Given the description of an element on the screen output the (x, y) to click on. 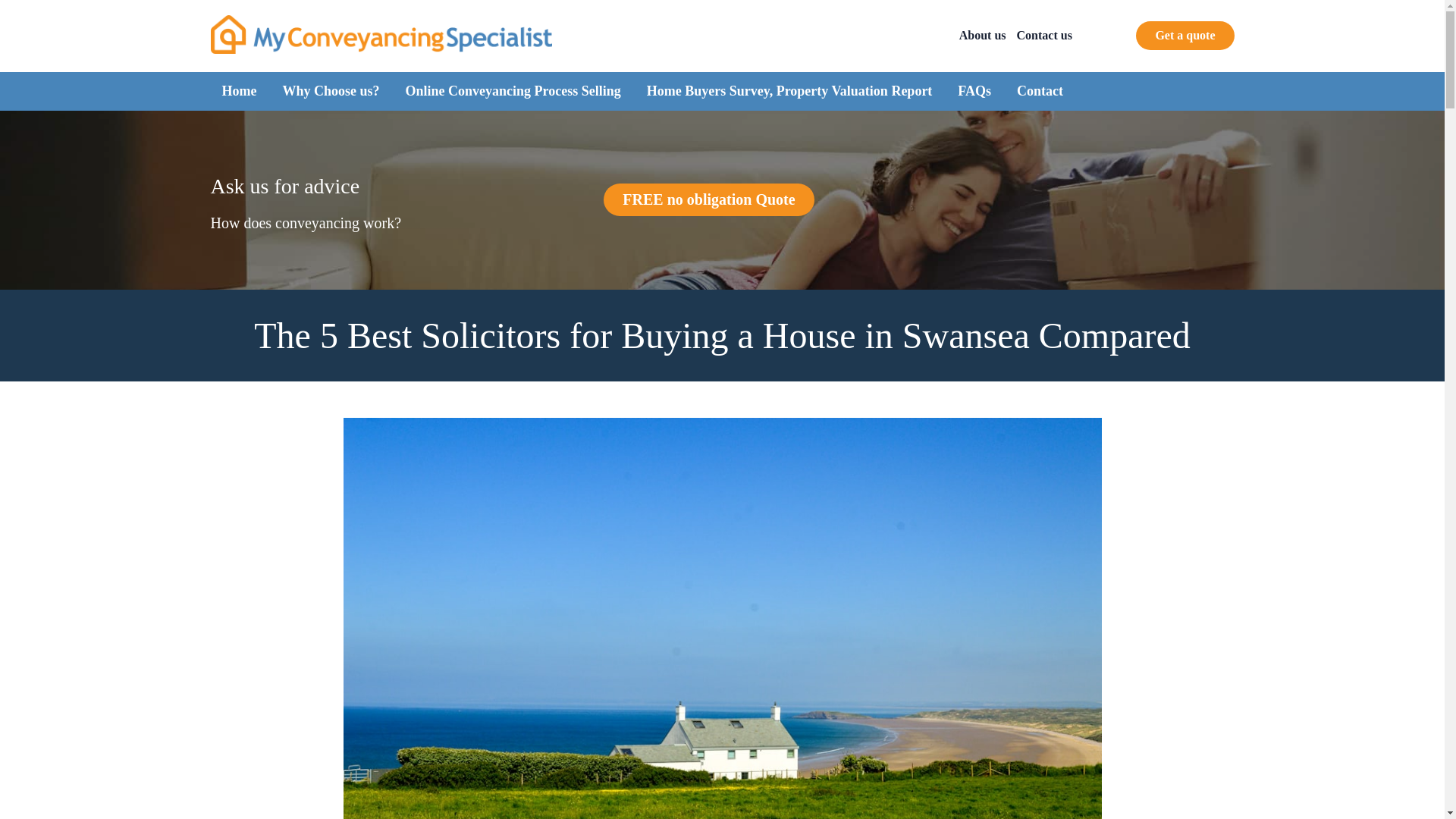
Home (238, 90)
Contact us (1043, 34)
FREE no obligation Quote (708, 199)
Contact (1039, 90)
Online Conveyancing Process Selling (513, 90)
Home Buyers Survey, Property Valuation Report (789, 90)
Get a quote (1184, 35)
FAQs (974, 90)
About us (982, 34)
The 5 Best Solicitors for Buying a House in Swansea Compared (721, 335)
Why Choose us? (330, 90)
